Given the description of an element on the screen output the (x, y) to click on. 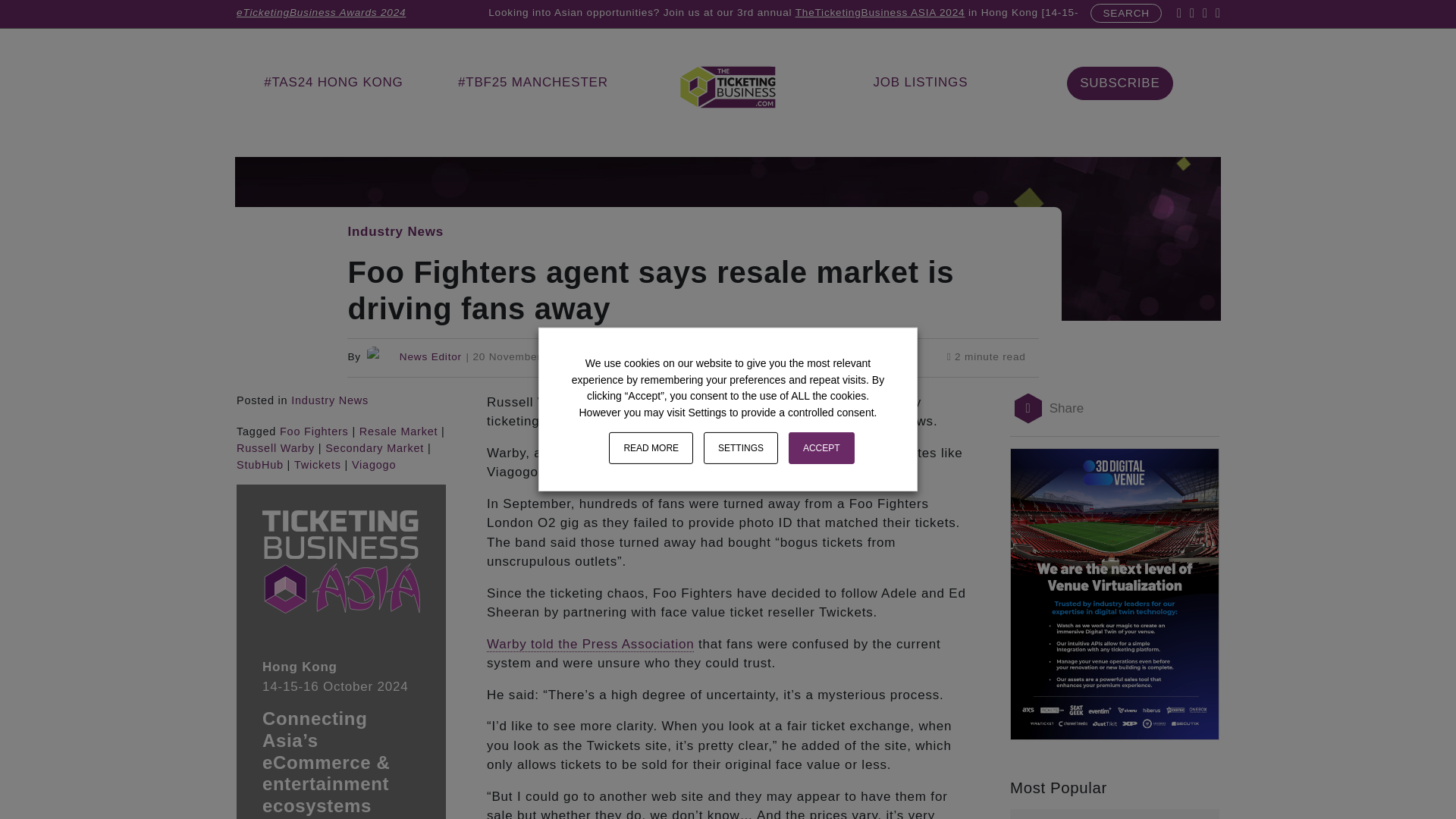
Job Listings (920, 82)
Newsletter Sign-up (1119, 82)
